Given the description of an element on the screen output the (x, y) to click on. 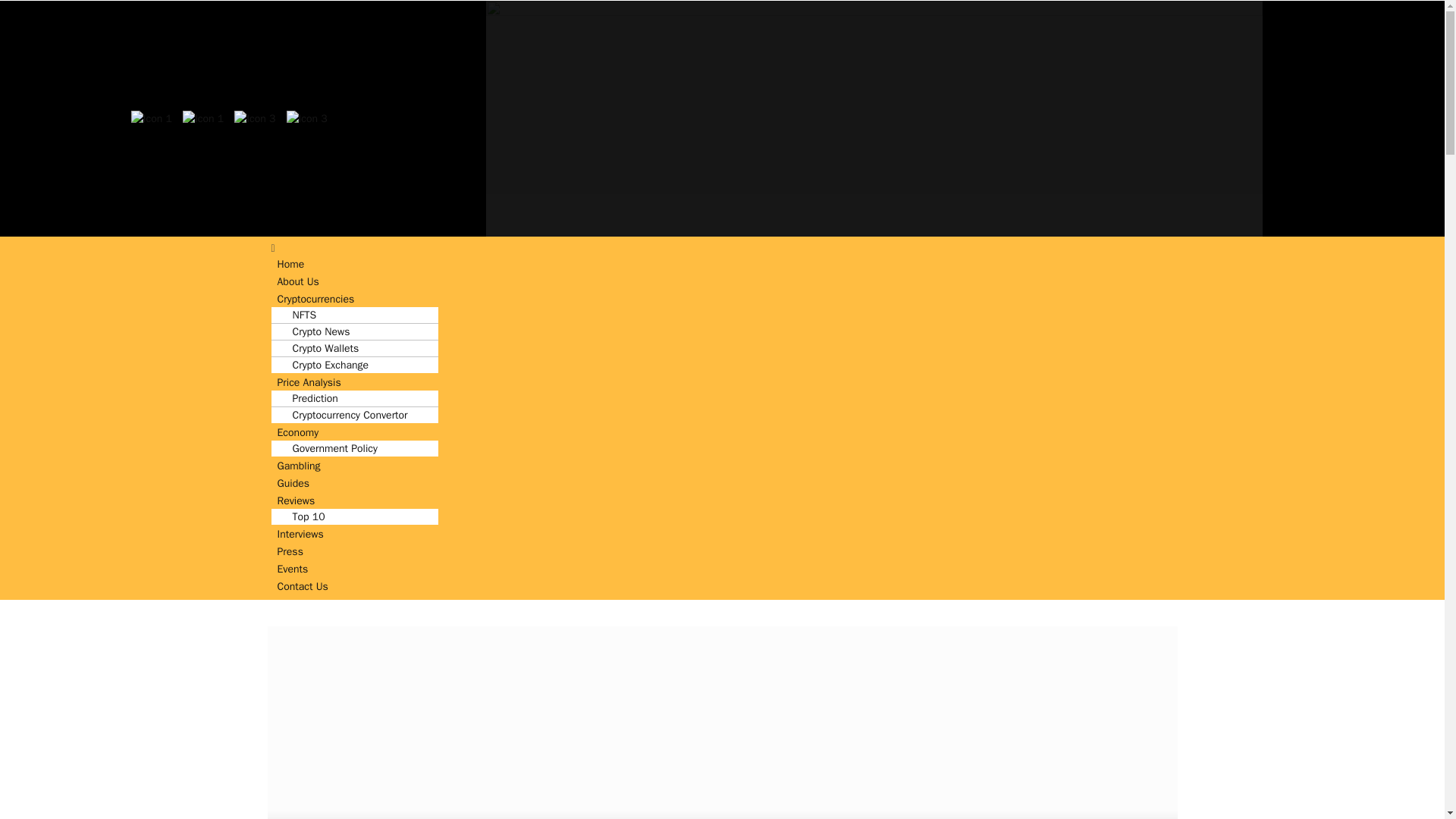
Reviews (295, 500)
About Us (297, 281)
Price Analysis (308, 382)
Events (292, 568)
Press (289, 551)
Crypto Wallets (317, 348)
Guides (292, 483)
Cryptocurrency Convertor (341, 415)
Contact Us (302, 586)
Home (290, 263)
Cryptocurrencies (315, 299)
Government Policy (327, 448)
NFTS (296, 314)
Gambling (298, 465)
